Given the description of an element on the screen output the (x, y) to click on. 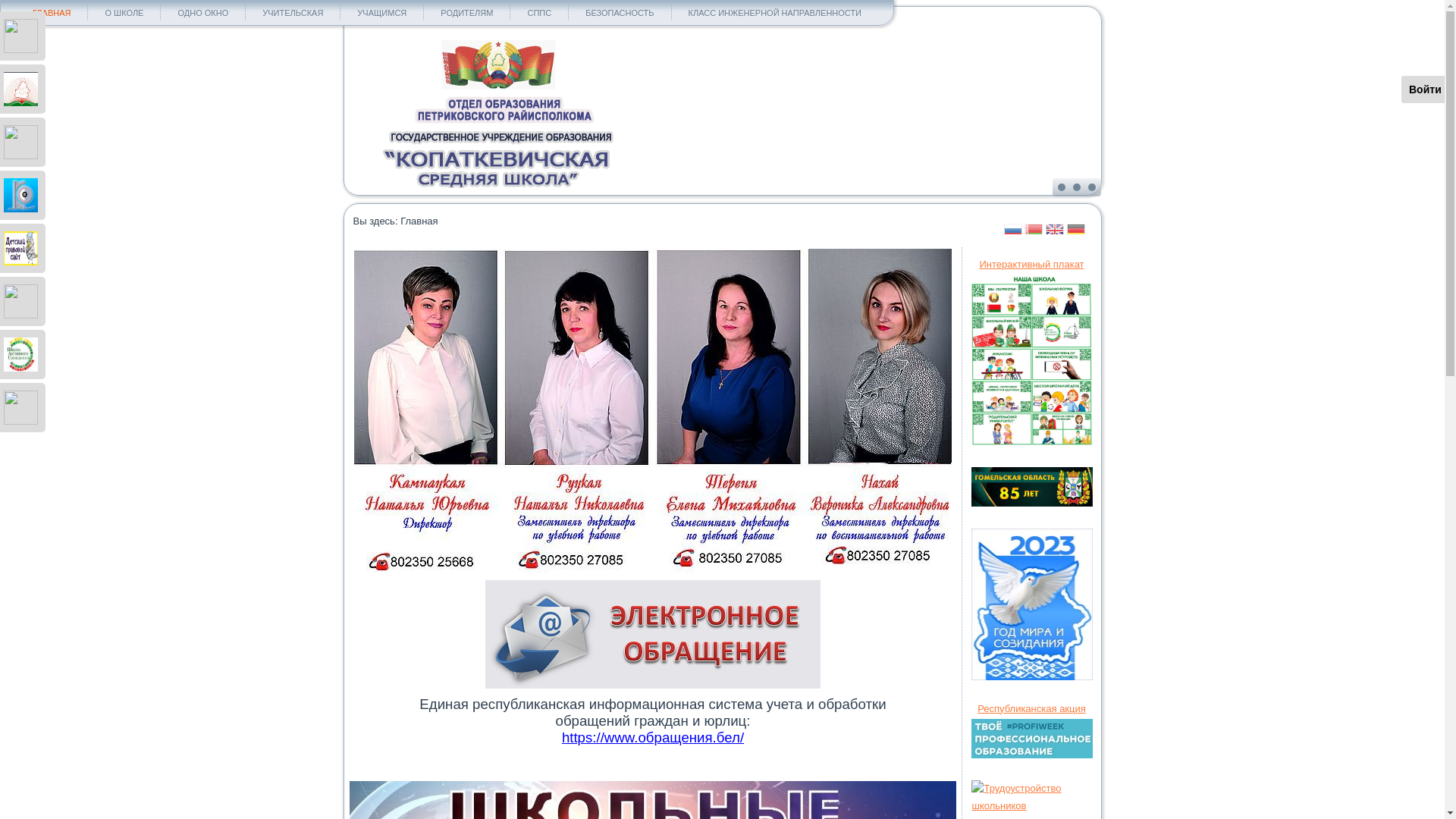
German Element type: hover (1075, 227)
English Element type: hover (1054, 227)
Belarusian Element type: hover (1033, 227)
Russian Element type: hover (1013, 227)
